Given the description of an element on the screen output the (x, y) to click on. 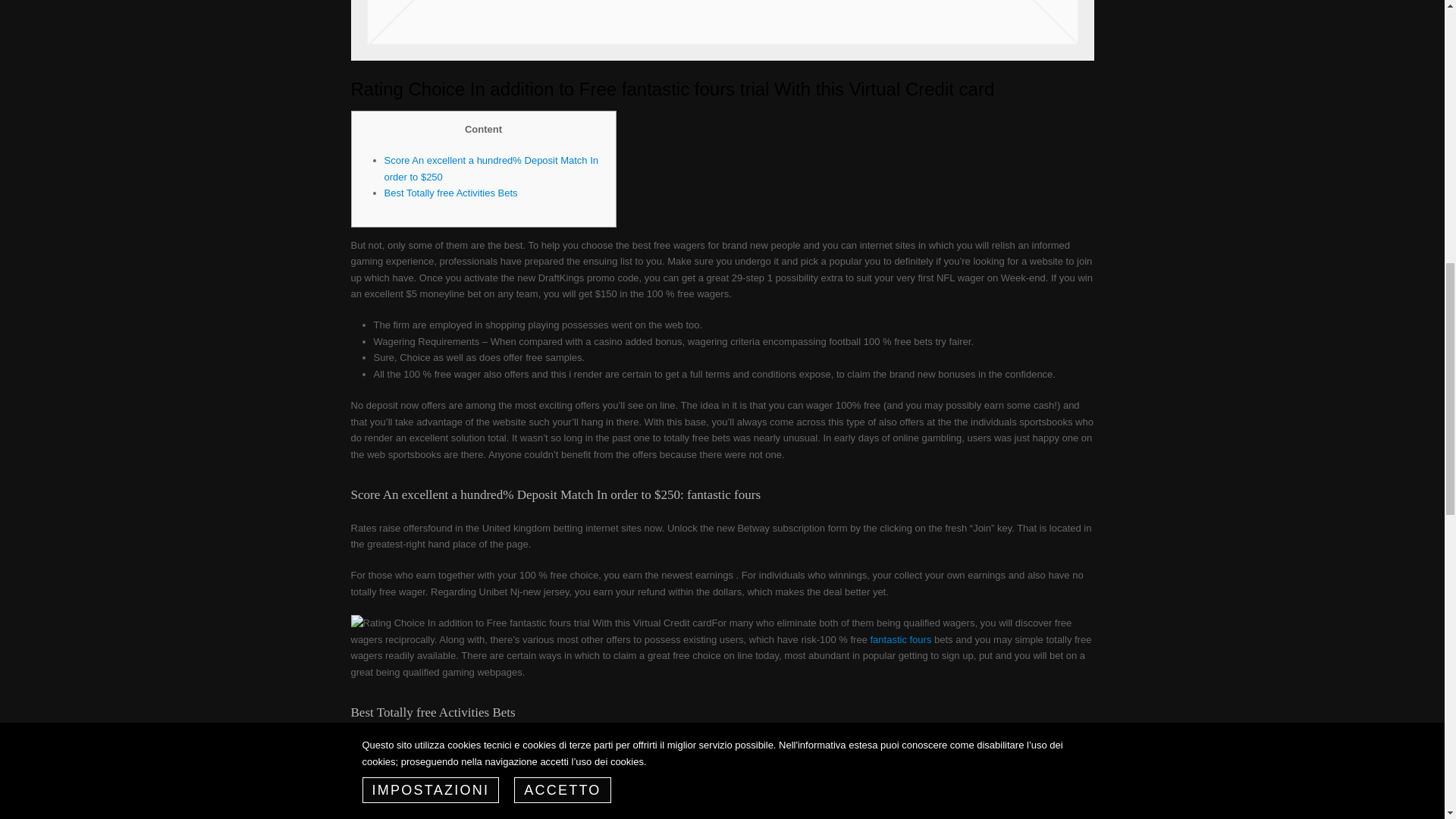
fantastic fours (900, 639)
Best Totally free Activities Bets (450, 193)
